Given the description of an element on the screen output the (x, y) to click on. 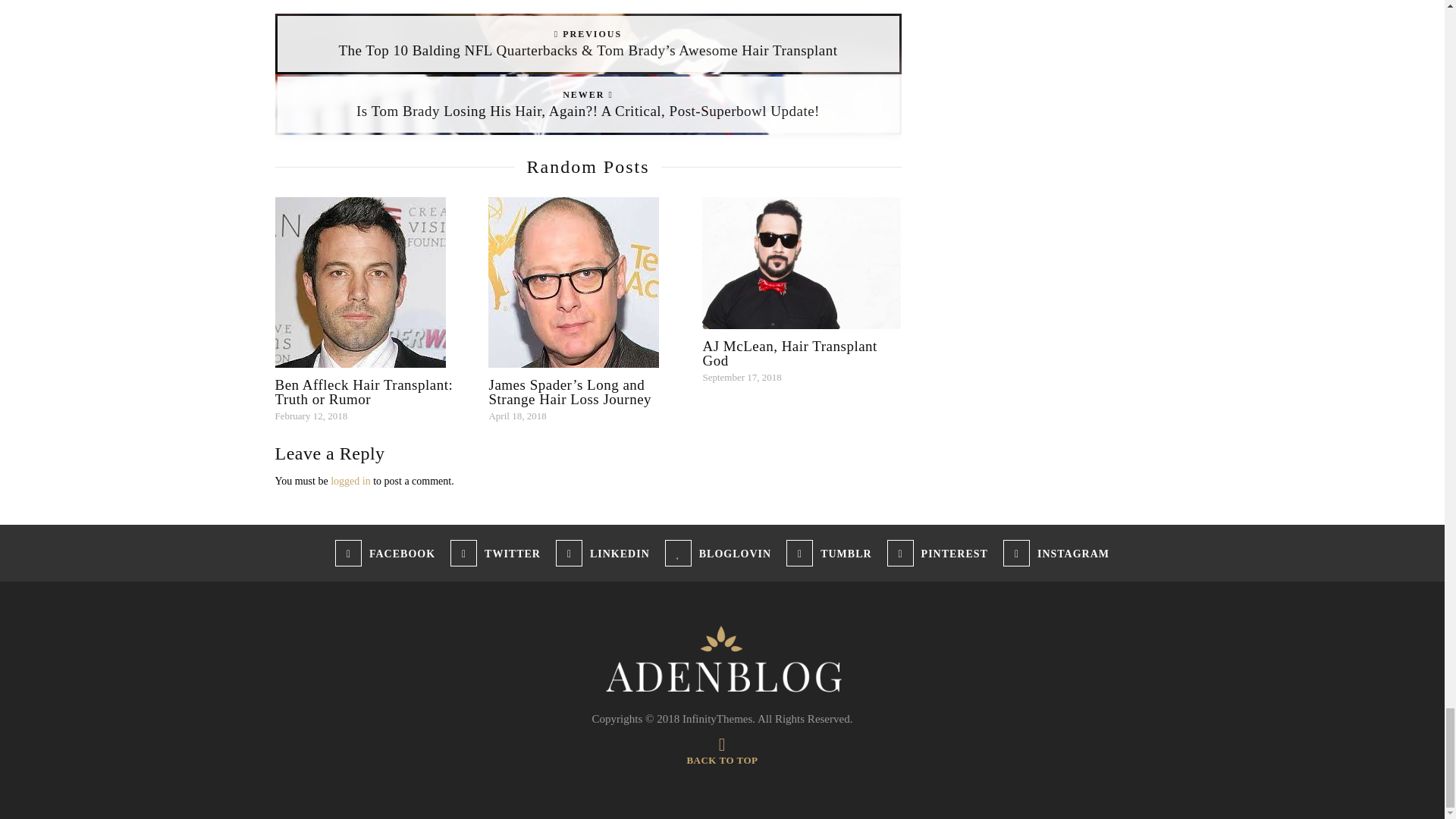
Celebrities hair transplants (722, 660)
BACK TO TOP (721, 753)
